Given the description of an element on the screen output the (x, y) to click on. 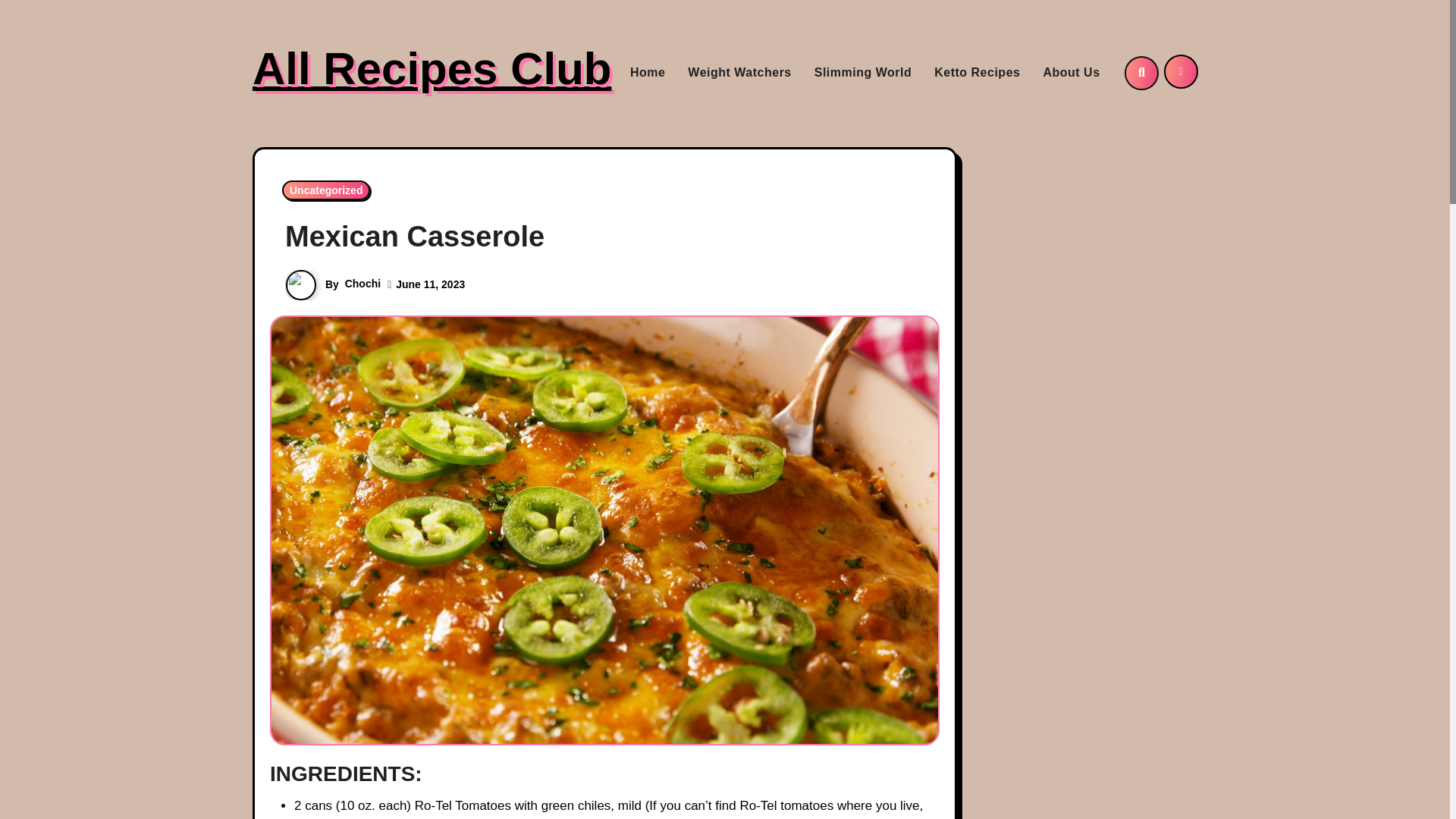
Weight Watchers (739, 73)
About Us (1070, 73)
Ketto Recipes (976, 73)
June 11, 2023 (430, 284)
Home (647, 73)
Weight Watchers (739, 73)
All Recipes Club (431, 68)
Slimming World (863, 73)
Home (647, 73)
Slimming World (863, 73)
Uncategorized (325, 189)
About Us (1070, 73)
Chochi (362, 283)
Ketto Recipes (976, 73)
